Given the description of an element on the screen output the (x, y) to click on. 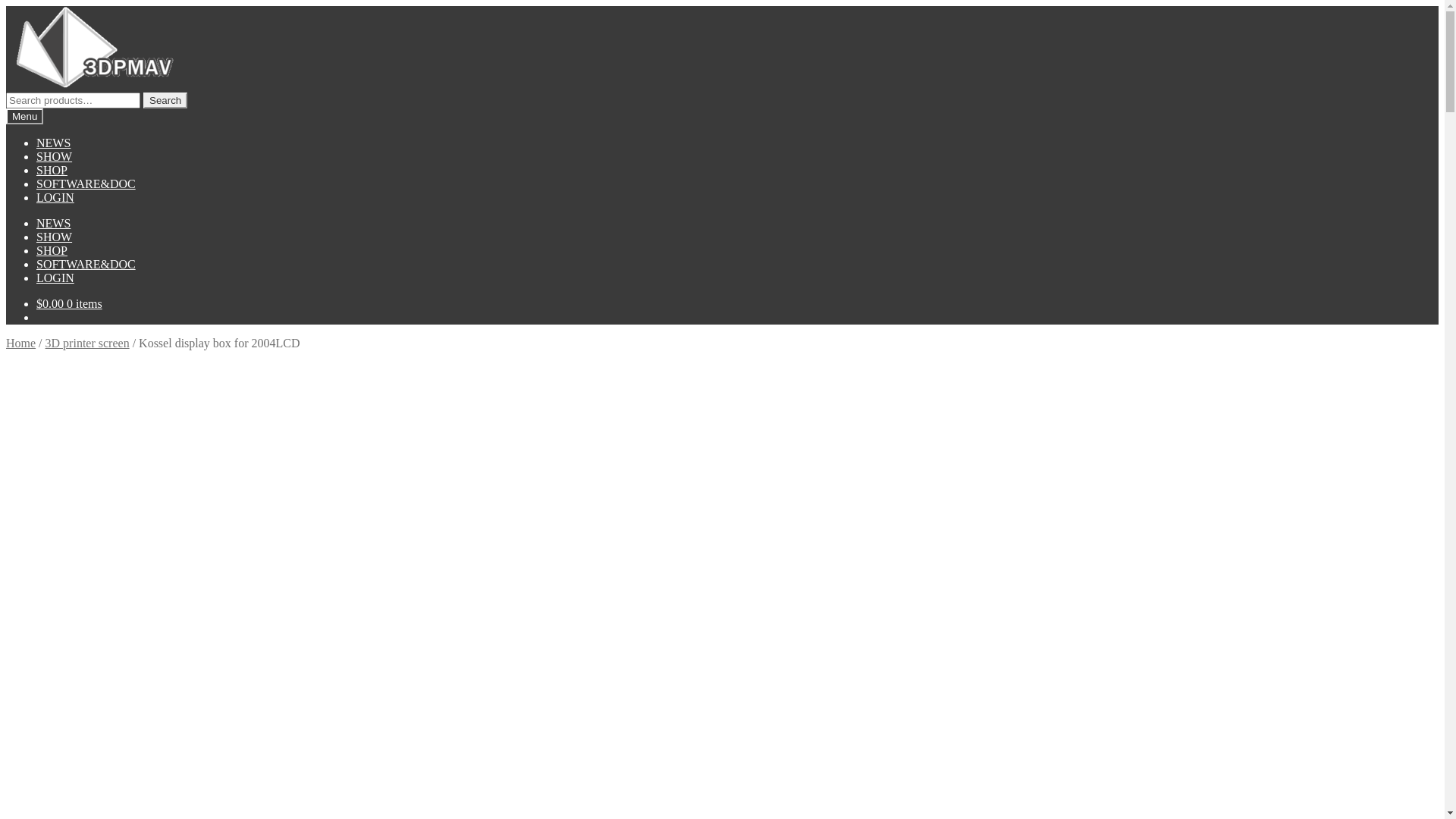
$0.00 0 items Element type: text (69, 303)
3D printer screen Element type: text (87, 342)
Menu Element type: text (24, 116)
SOFTWARE&DOC Element type: text (85, 263)
SHOP Element type: text (51, 250)
Search Element type: text (165, 100)
SHOW Element type: text (54, 156)
Skip to navigation Element type: text (5, 5)
LOGIN Element type: text (55, 197)
SHOP Element type: text (51, 169)
LOGIN Element type: text (55, 277)
SHOW Element type: text (54, 236)
Home Element type: text (20, 342)
SOFTWARE&DOC Element type: text (85, 183)
NEWS Element type: text (53, 142)
NEWS Element type: text (53, 222)
